Given the description of an element on the screen output the (x, y) to click on. 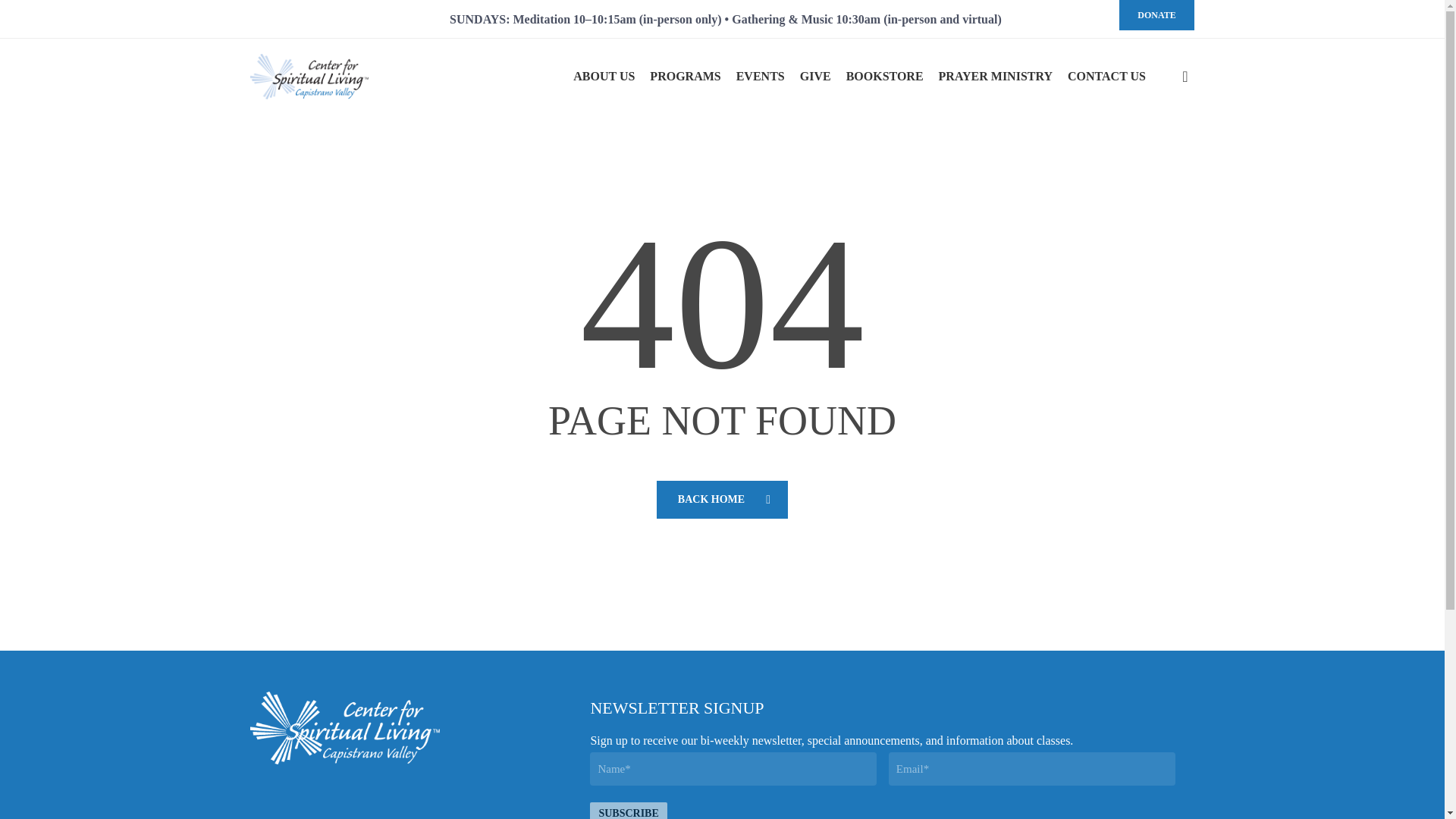
PROGRAMS (684, 76)
BOOKSTORE (884, 76)
Subscribe (627, 810)
ABOUT US (603, 76)
EVENTS (760, 76)
DONATE (1156, 15)
GIVE (815, 76)
PRAYER MINISTRY (995, 76)
CONTACT US (1106, 76)
BACK HOME (721, 499)
search (1184, 75)
Subscribe (627, 810)
